Given the description of an element on the screen output the (x, y) to click on. 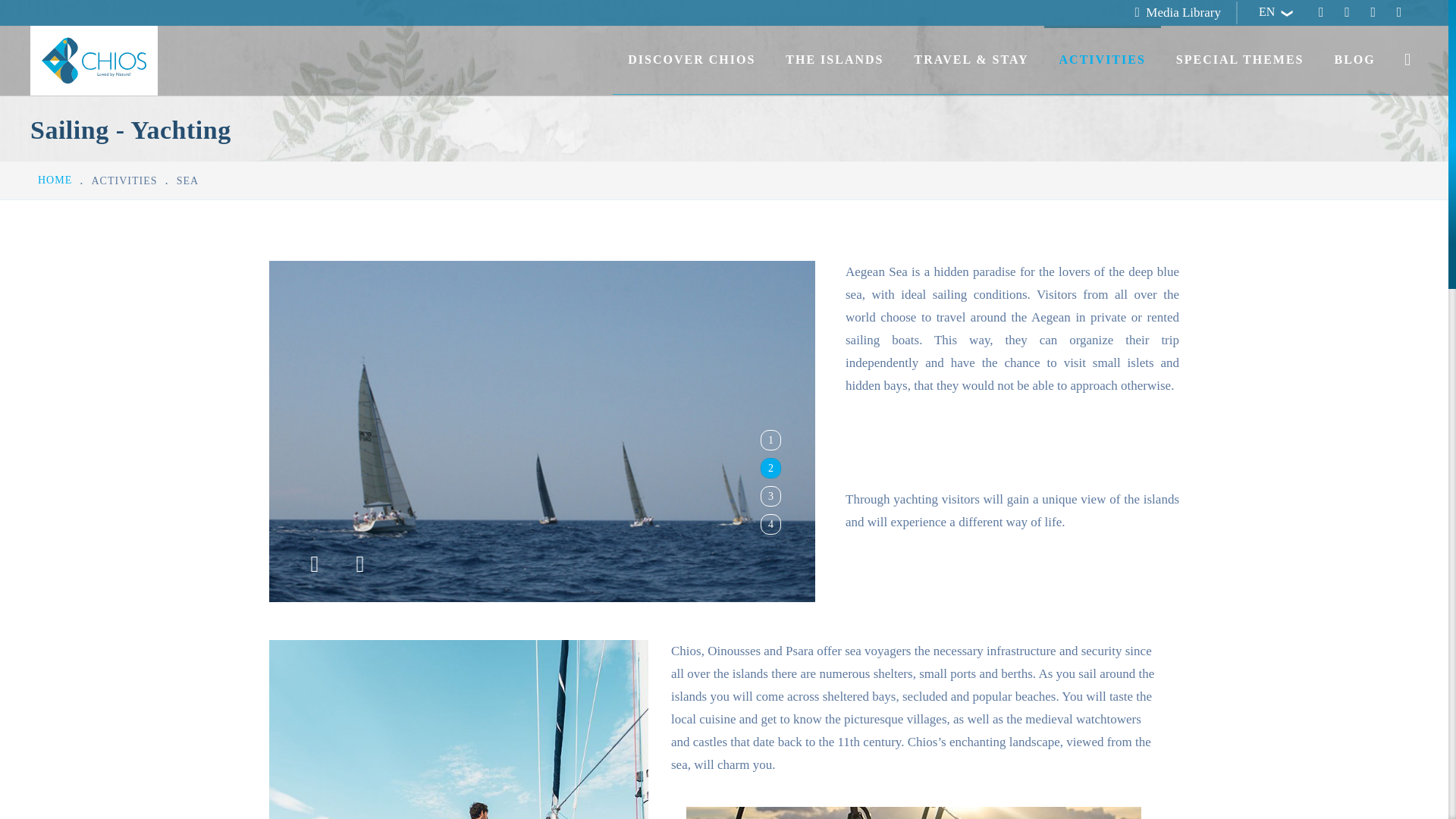
DISCOVER CHIOS (691, 59)
facebook (1320, 14)
instagram (1347, 14)
twitter (1398, 14)
EN (1273, 12)
pinterest (1372, 14)
Media Library (1183, 11)
Chios Travel Guide (93, 60)
